Given the description of an element on the screen output the (x, y) to click on. 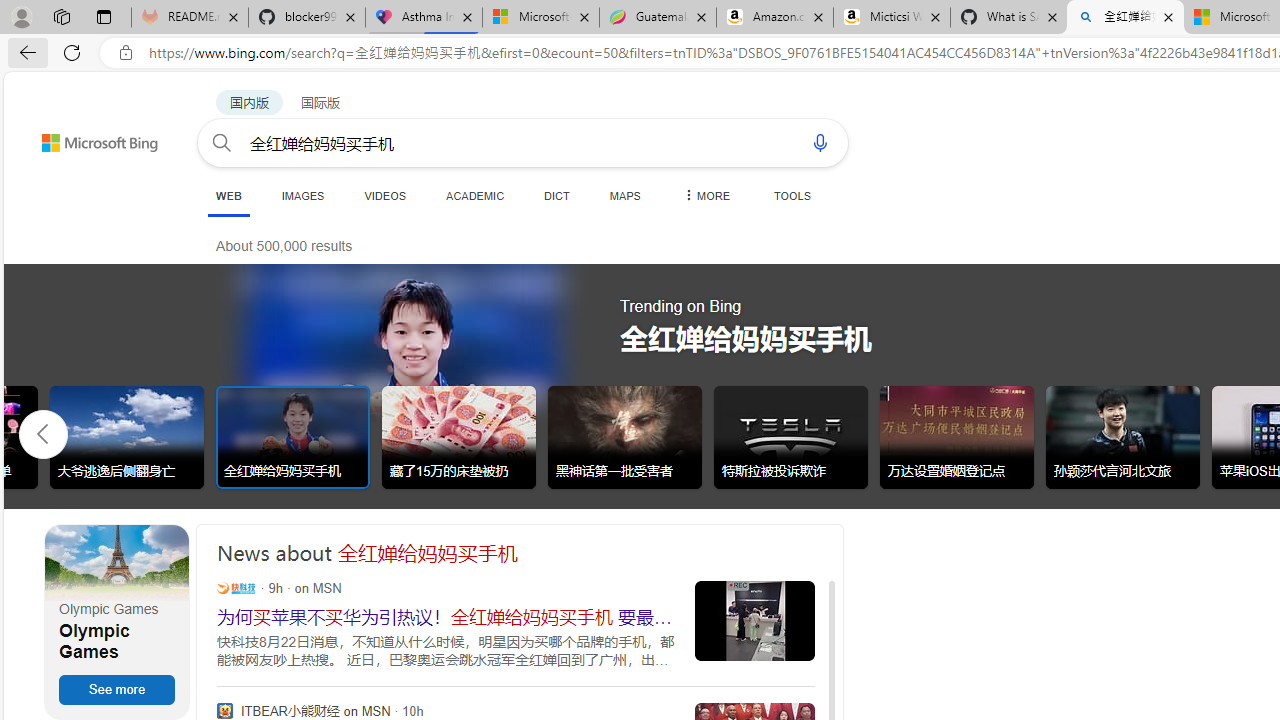
Skip to content (63, 133)
Dropdown Menu (705, 195)
MORE (705, 195)
